Given the description of an element on the screen output the (x, y) to click on. 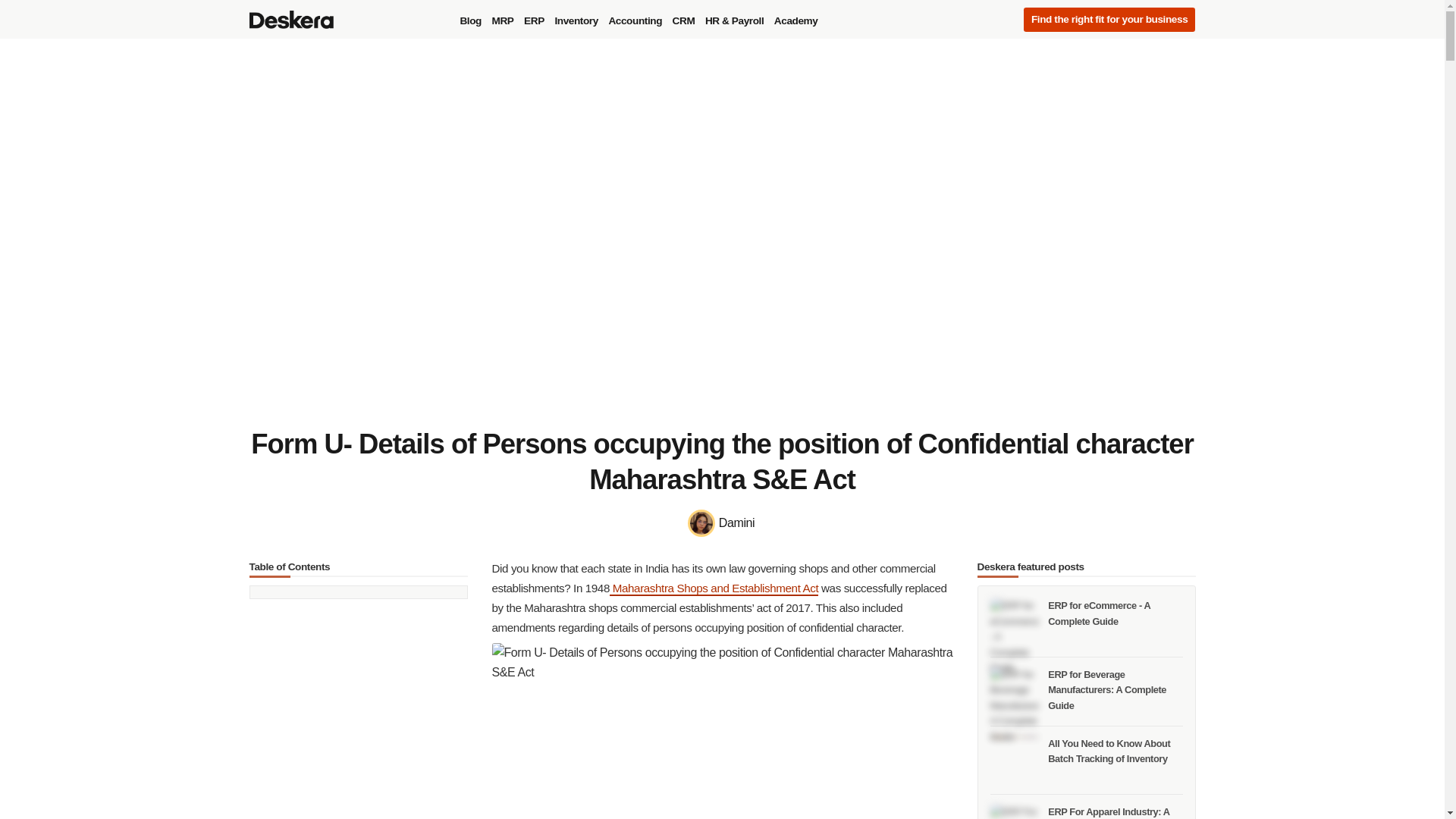
Academy (795, 21)
Maharashtra Shops and Establishment Act (714, 588)
Find the right fit for your business (1109, 19)
CRM (683, 21)
Accounting (634, 21)
ERP (534, 21)
MRP (502, 21)
Damini (722, 522)
Blog (470, 21)
Inventory (575, 21)
